Given the description of an element on the screen output the (x, y) to click on. 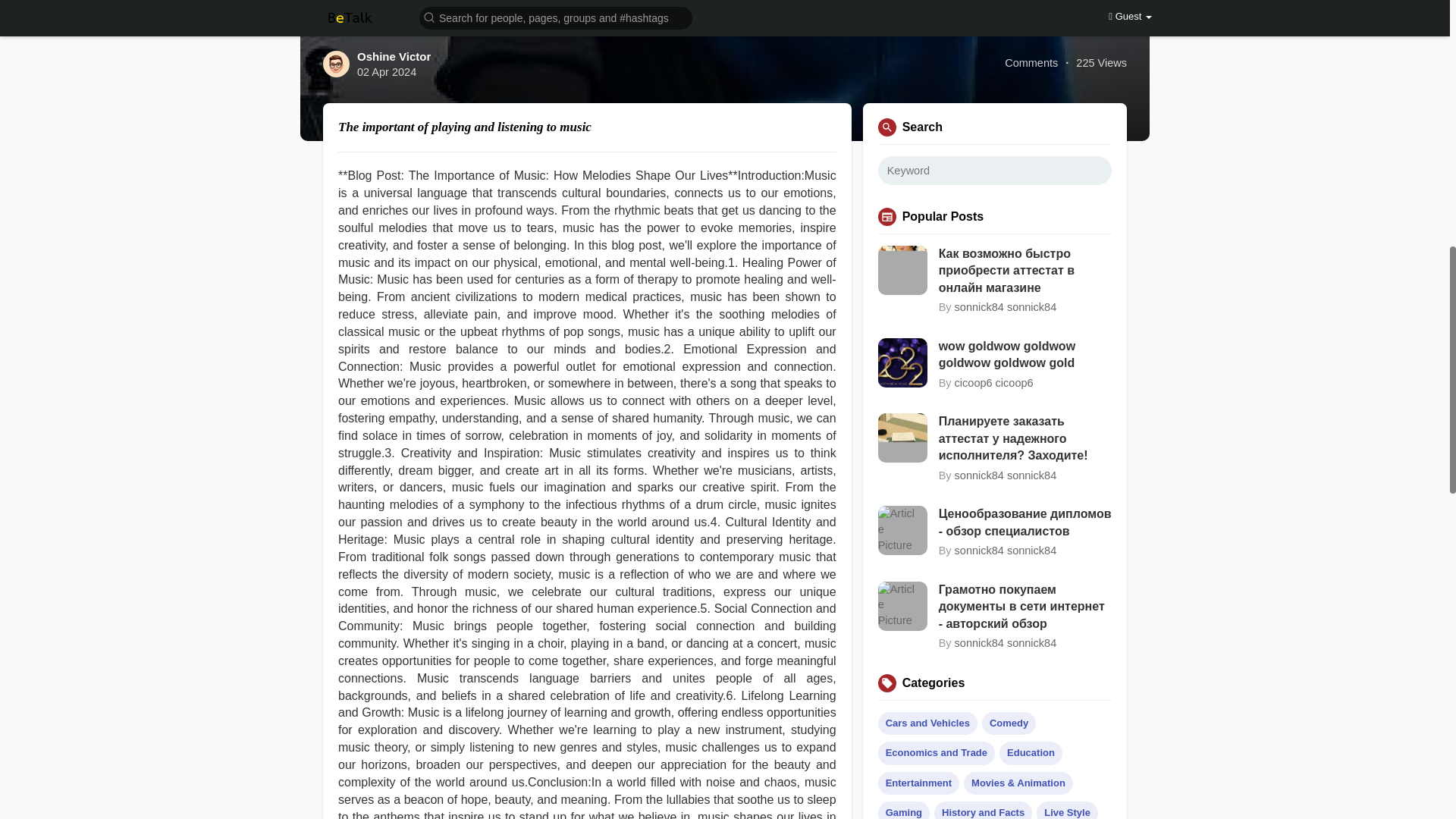
sonnick84 sonnick84 (1006, 643)
sonnick84 sonnick84 (1006, 550)
wow goldwow goldwow goldwow goldwow gold (1025, 355)
cicoop6 cicoop6 (994, 382)
sonnick84 sonnick84 (1006, 306)
sonnick84 sonnick84 (1006, 475)
Oshine Victor (393, 56)
Comments (1031, 63)
